Given the description of an element on the screen output the (x, y) to click on. 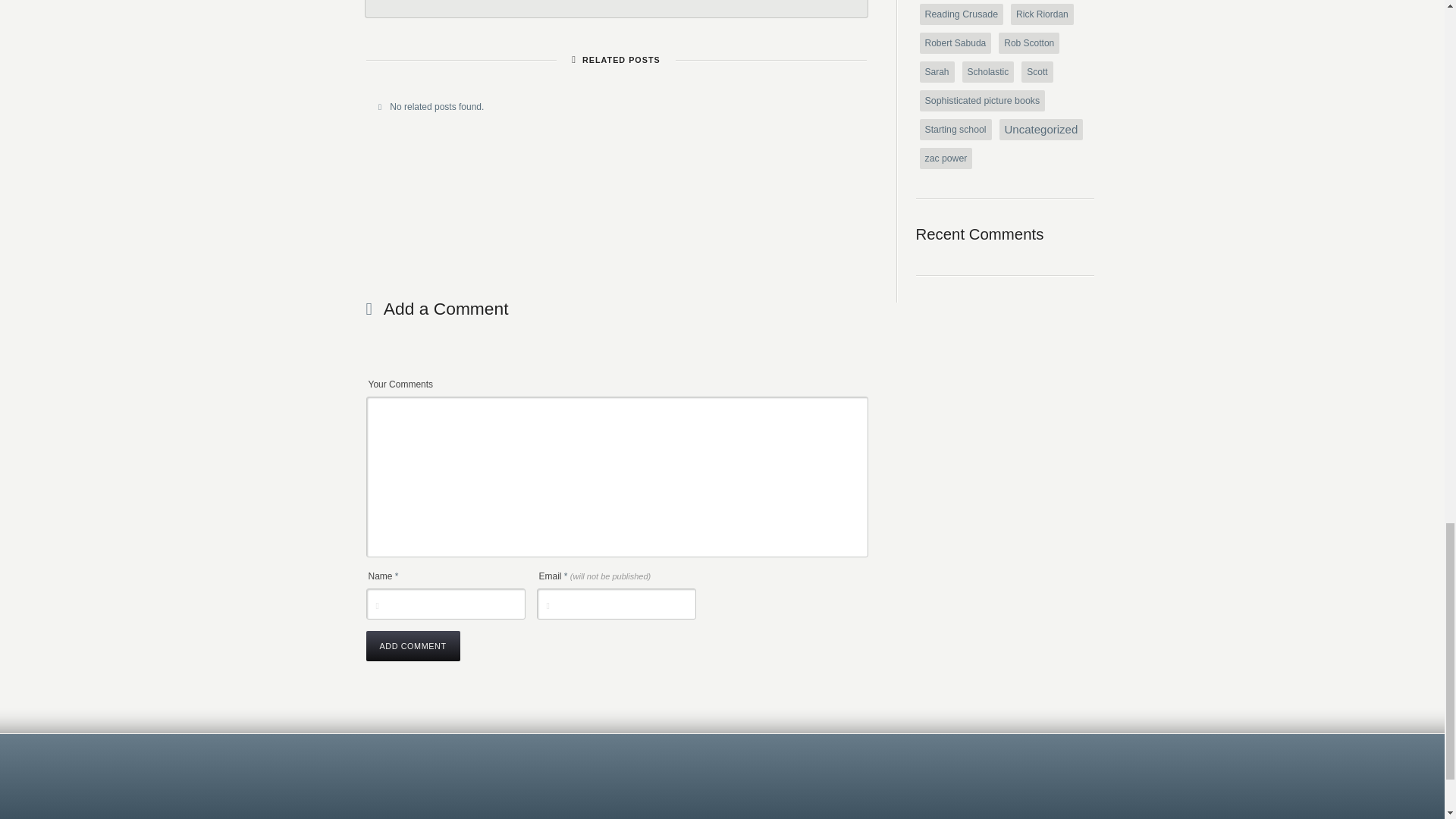
Add Comment (412, 645)
Add Comment (412, 645)
